Given the description of an element on the screen output the (x, y) to click on. 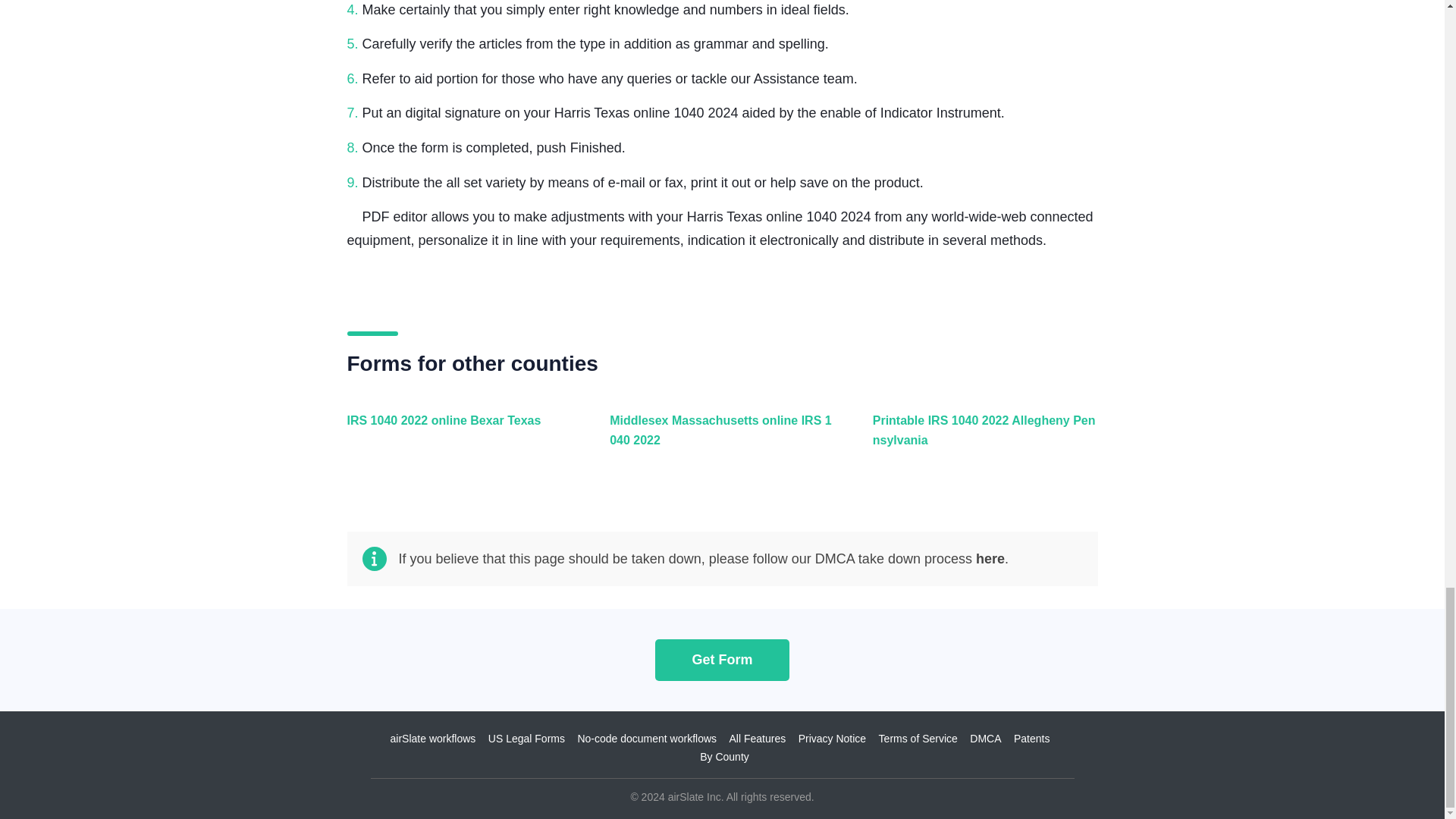
here (989, 558)
DMCA (985, 738)
Patents (1031, 738)
Printable IRS 1040 2022 Allegheny Pennsylvania (981, 438)
No-code document workflows (646, 738)
Get Form (722, 659)
US Legal Forms (525, 738)
airSlate workflows (433, 738)
IRS 1040 2022 online Bexar Texas (456, 438)
By County (724, 756)
